Given the description of an element on the screen output the (x, y) to click on. 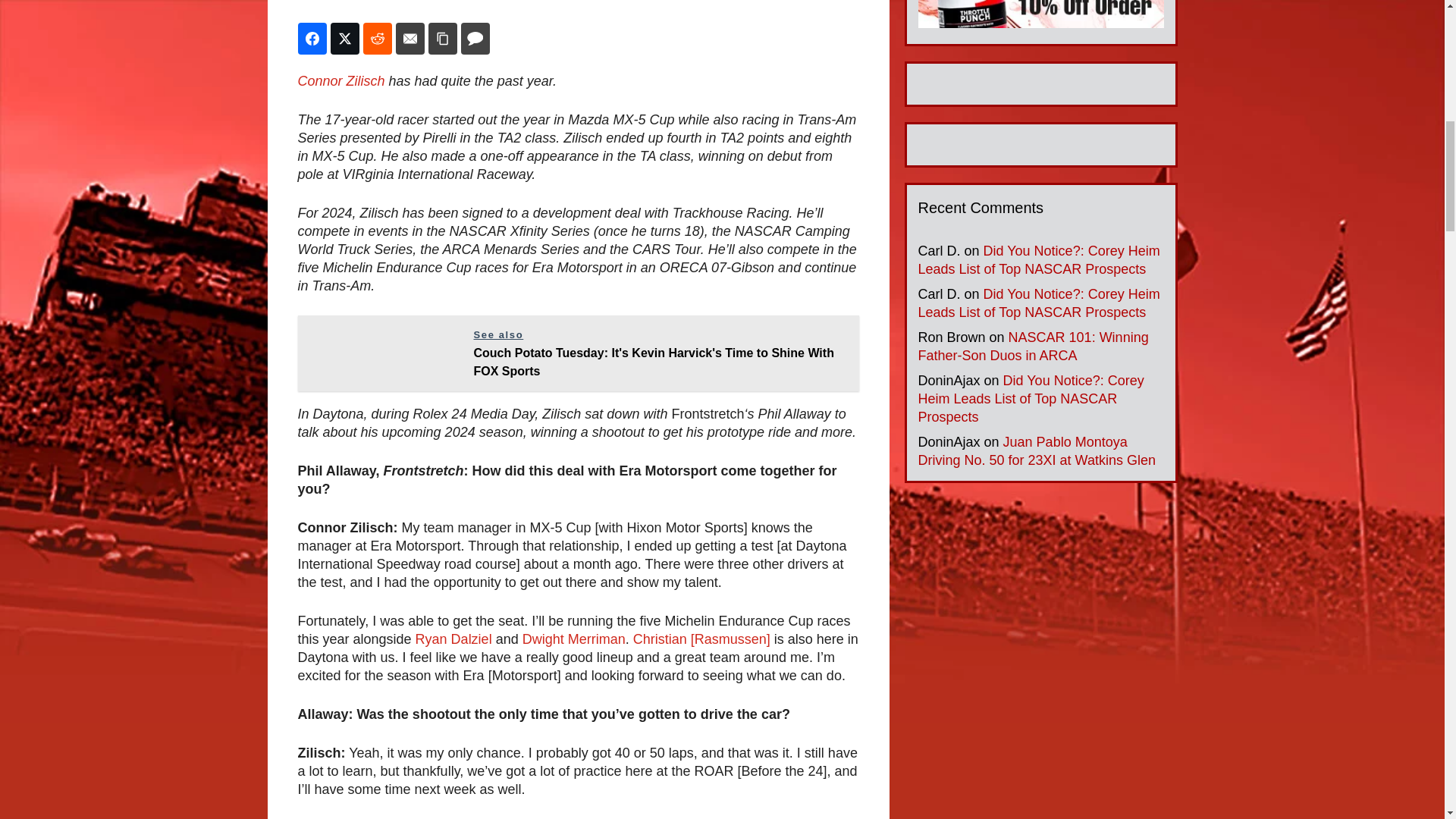
Connor Zilisch (340, 80)
Ryan Dalziel (453, 639)
Share on Comments (475, 38)
Dwight Merriman (574, 639)
Share on Copy Link (442, 38)
Share on Reddit (376, 38)
Share on Facebook (311, 38)
Share on Email (410, 38)
Share on Twitter (344, 38)
